Given the description of an element on the screen output the (x, y) to click on. 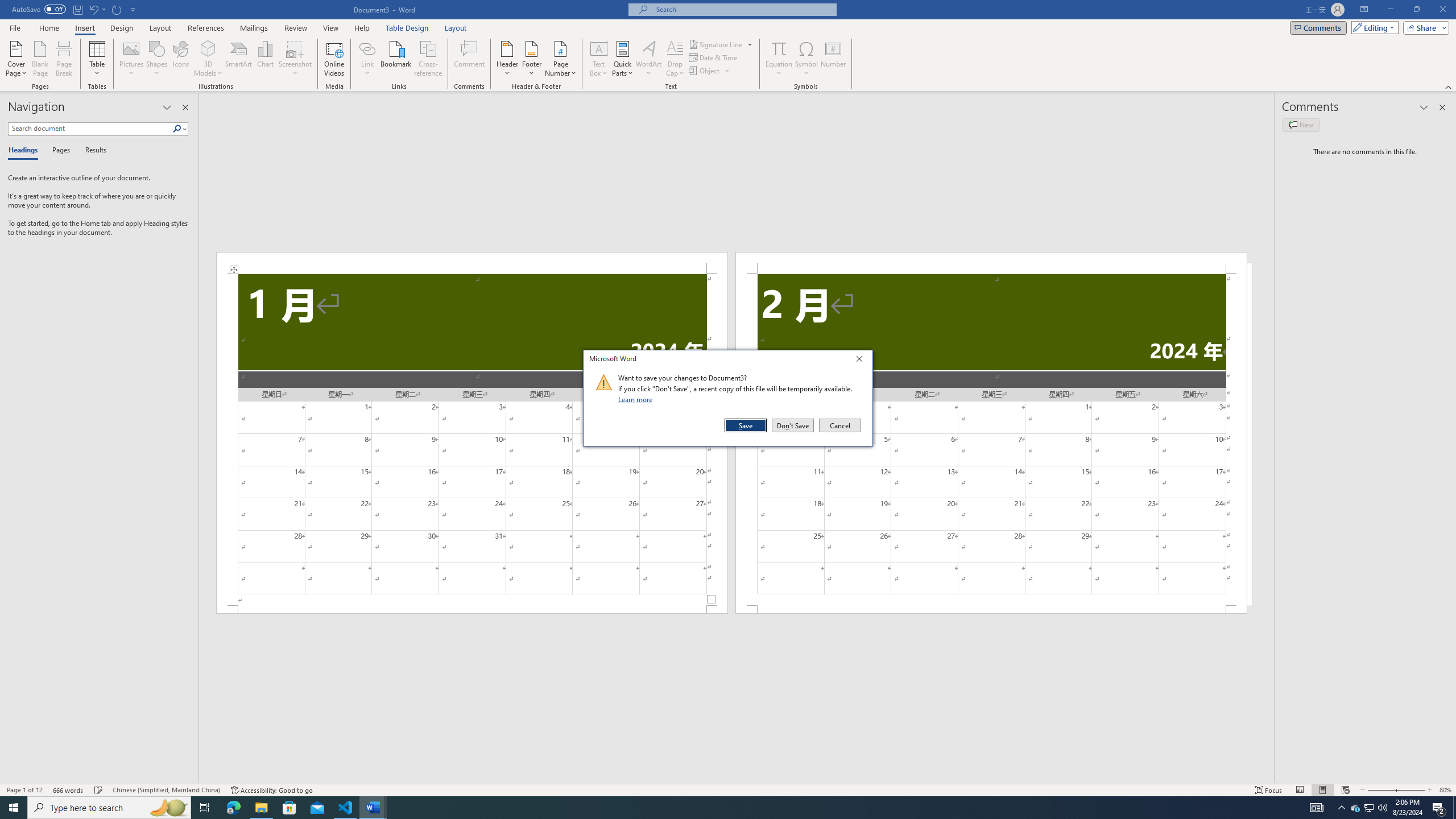
New comment (1300, 124)
Quick Parts (622, 58)
Word Count 666 words (68, 790)
